Given the description of an element on the screen output the (x, y) to click on. 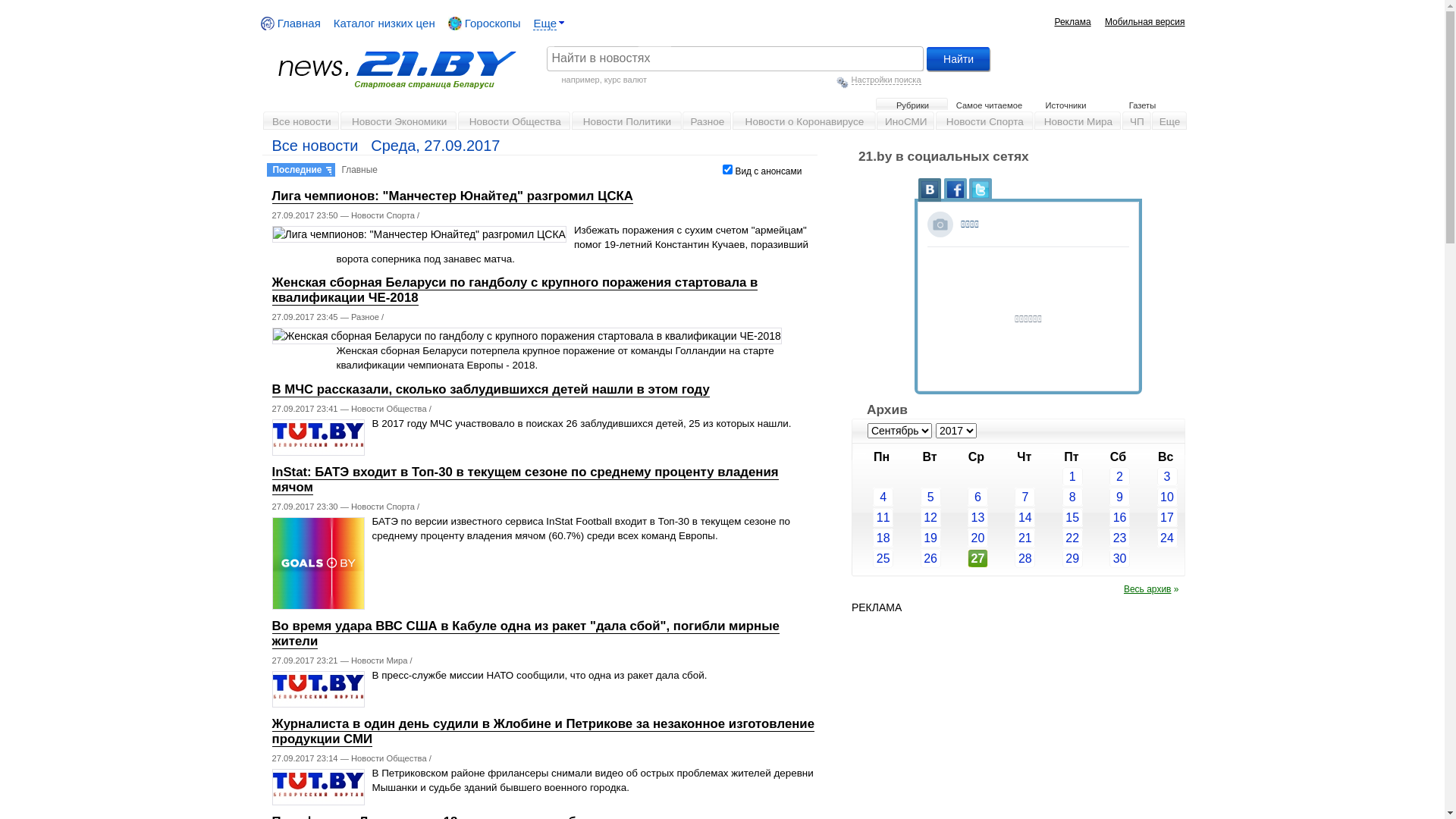
14 Element type: text (1011, 517)
28 Element type: text (1011, 558)
29 Element type: text (1058, 558)
5 Element type: text (930, 496)
19 Element type: text (916, 537)
3 Element type: text (1152, 476)
11 Element type: text (869, 517)
14 Element type: text (1024, 517)
8 Element type: text (1072, 496)
27 Element type: text (977, 558)
16 Element type: text (1105, 517)
10 Element type: text (1152, 496)
21 Element type: text (1024, 537)
22 Element type: text (1072, 537)
26 Element type: text (930, 558)
26 Element type: text (916, 558)
25 Element type: text (882, 558)
12 Element type: text (930, 517)
12 Element type: text (916, 517)
28 Element type: text (1024, 558)
24 Element type: text (1152, 537)
18 Element type: text (882, 537)
18 Element type: text (869, 537)
27 Element type: text (964, 558)
20 Element type: text (964, 537)
30 Element type: text (1119, 558)
10 Element type: text (1167, 496)
4 Element type: text (869, 496)
9 Element type: text (1119, 496)
29 Element type: text (1072, 558)
15 Element type: text (1072, 517)
2 Element type: text (1119, 476)
5 Element type: text (916, 496)
7 Element type: text (1024, 496)
19 Element type: text (930, 537)
4 Element type: text (882, 496)
3 Element type: text (1167, 476)
9 Element type: text (1105, 496)
15 Element type: text (1058, 517)
24 Element type: text (1167, 537)
23 Element type: text (1105, 537)
13 Element type: text (977, 517)
1 Element type: text (1058, 476)
7 Element type: text (1011, 496)
2 Element type: text (1105, 476)
17 Element type: text (1152, 517)
8 Element type: text (1058, 496)
6 Element type: text (977, 496)
17 Element type: text (1167, 517)
1 Element type: text (1072, 476)
21 Element type: text (1011, 537)
11 Element type: text (882, 517)
6 Element type: text (964, 496)
25 Element type: text (869, 558)
23 Element type: text (1119, 537)
22 Element type: text (1058, 537)
20 Element type: text (977, 537)
30 Element type: text (1105, 558)
13 Element type: text (964, 517)
16 Element type: text (1119, 517)
